Given the description of an element on the screen output the (x, y) to click on. 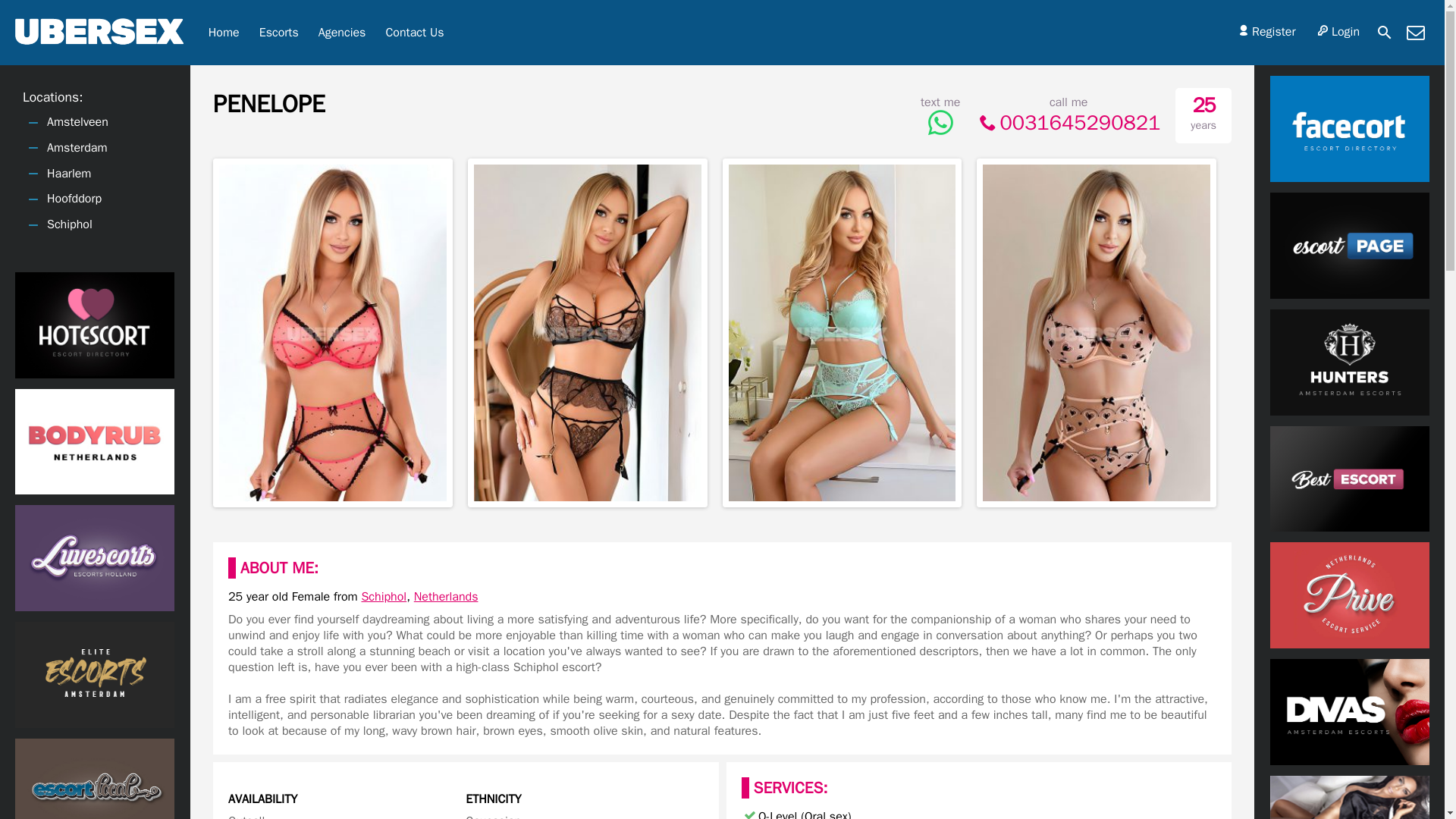
Contact Us (413, 33)
Schiphol (383, 596)
Ubersex (223, 33)
0031645290821 (1068, 122)
Register (1265, 31)
Penelope (268, 107)
Netherlands (446, 596)
Agencies (341, 33)
Schiphol (383, 596)
Home (223, 33)
